Given the description of an element on the screen output the (x, y) to click on. 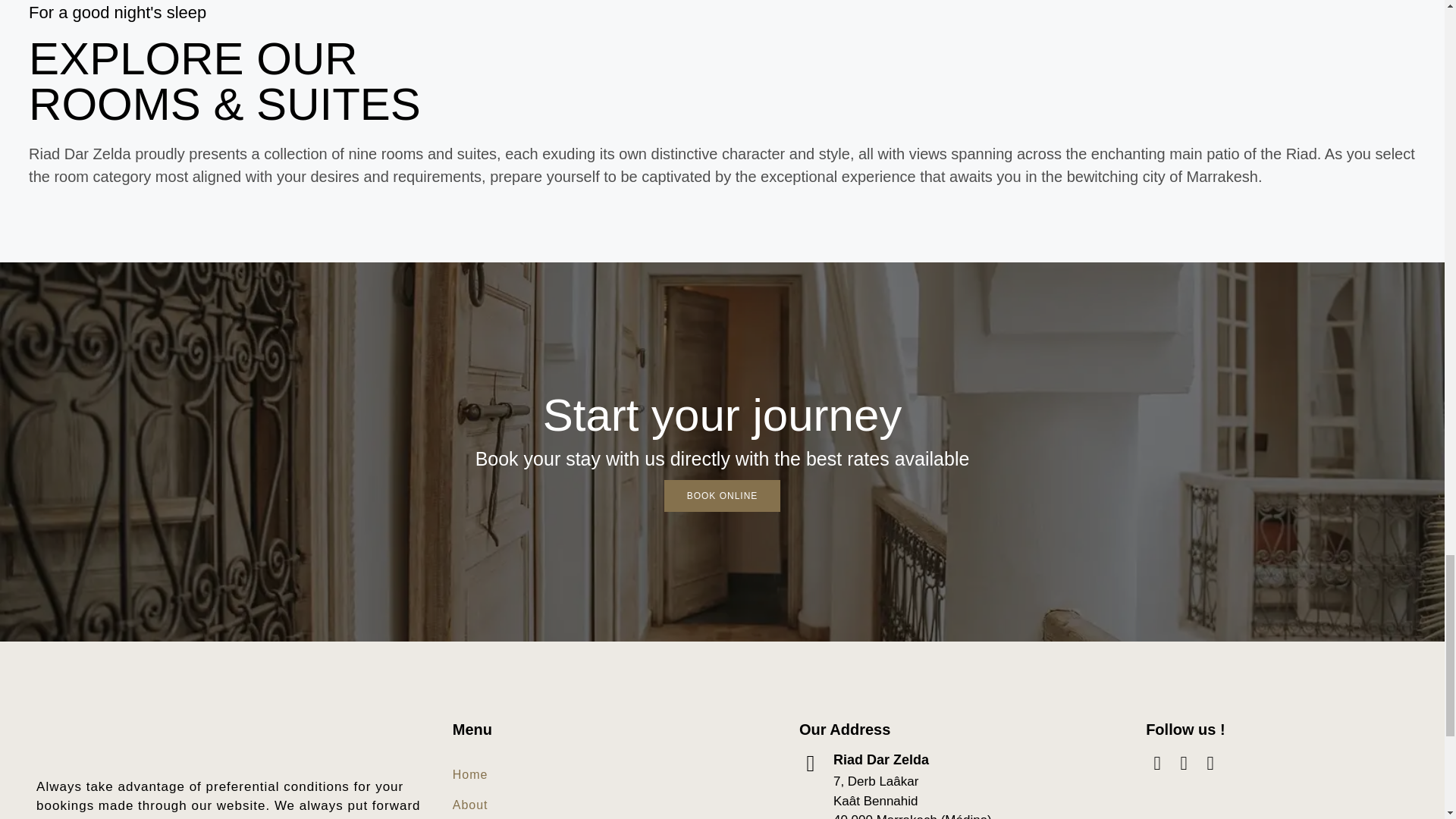
About (497, 804)
Home (497, 775)
BOOK ONLINE (721, 495)
